Given the description of an element on the screen output the (x, y) to click on. 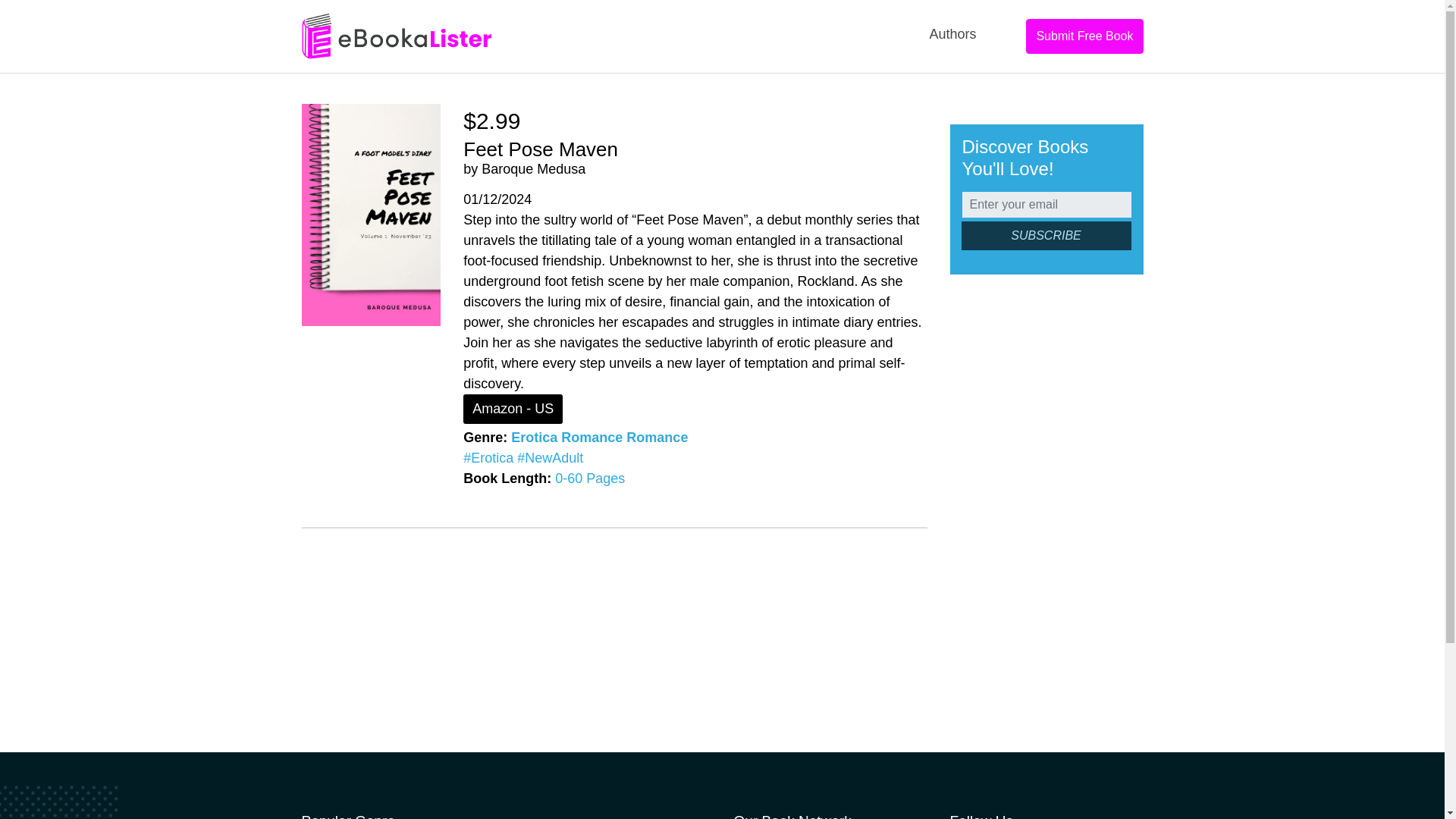
Subscribe (1045, 235)
Amazon - US (512, 408)
Feet Pose Maven (540, 149)
0-60 Pages (589, 478)
Subscribe (1045, 235)
Authors (952, 34)
Advertisement (1045, 524)
Erotica Romance (567, 437)
Romance (656, 437)
Submit Free Book (1084, 36)
